Given the description of an element on the screen output the (x, y) to click on. 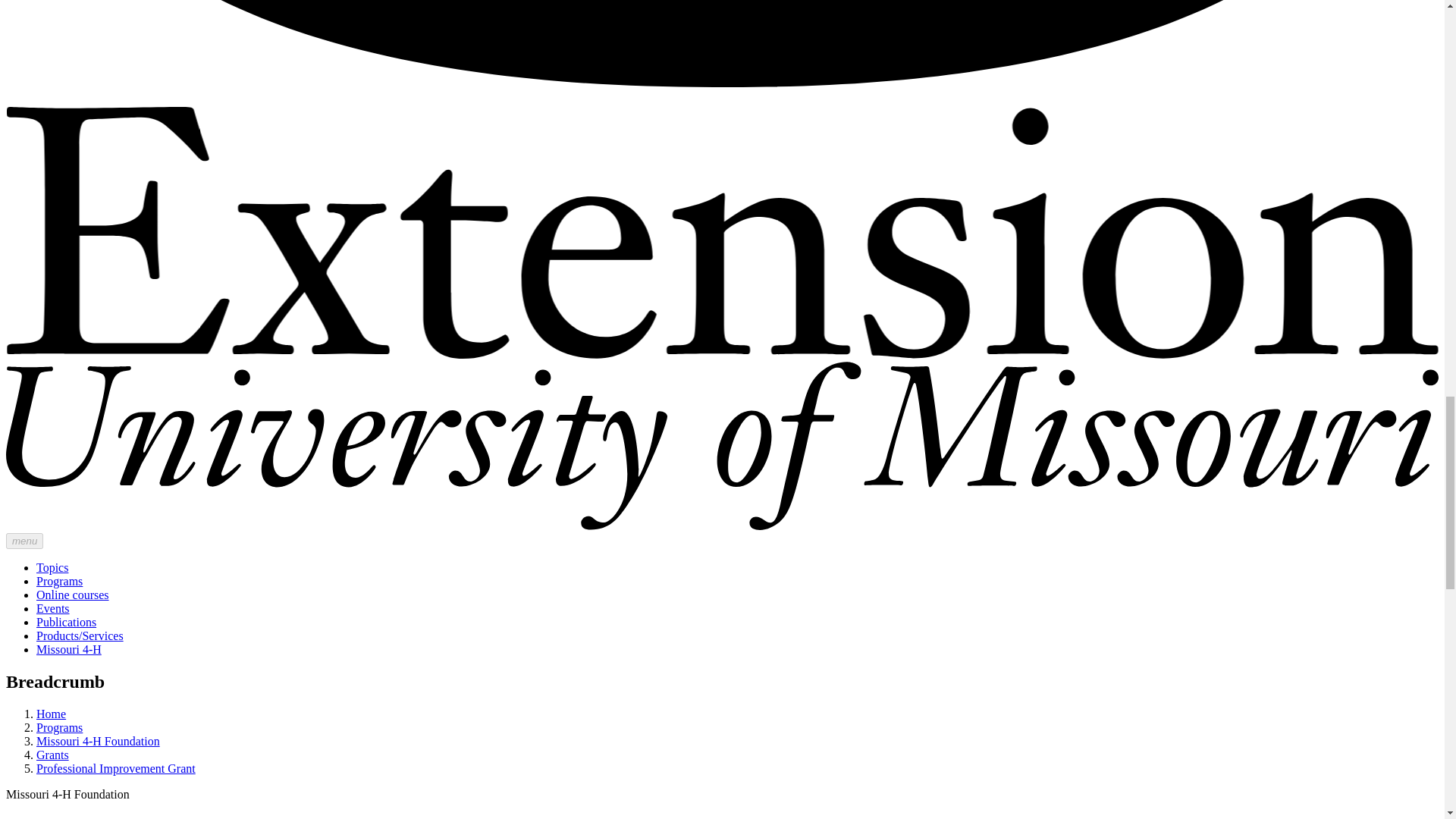
Home (50, 713)
Programs (59, 727)
Publications (66, 621)
Professional Improvement Grant (115, 768)
Online courses (72, 594)
menu (24, 540)
Topics (52, 567)
Missouri 4-H Foundation (98, 740)
Programs (59, 581)
Missouri 4-H (68, 649)
Missouri 4-H (68, 649)
Events (52, 608)
Grants (52, 754)
